Given the description of an element on the screen output the (x, y) to click on. 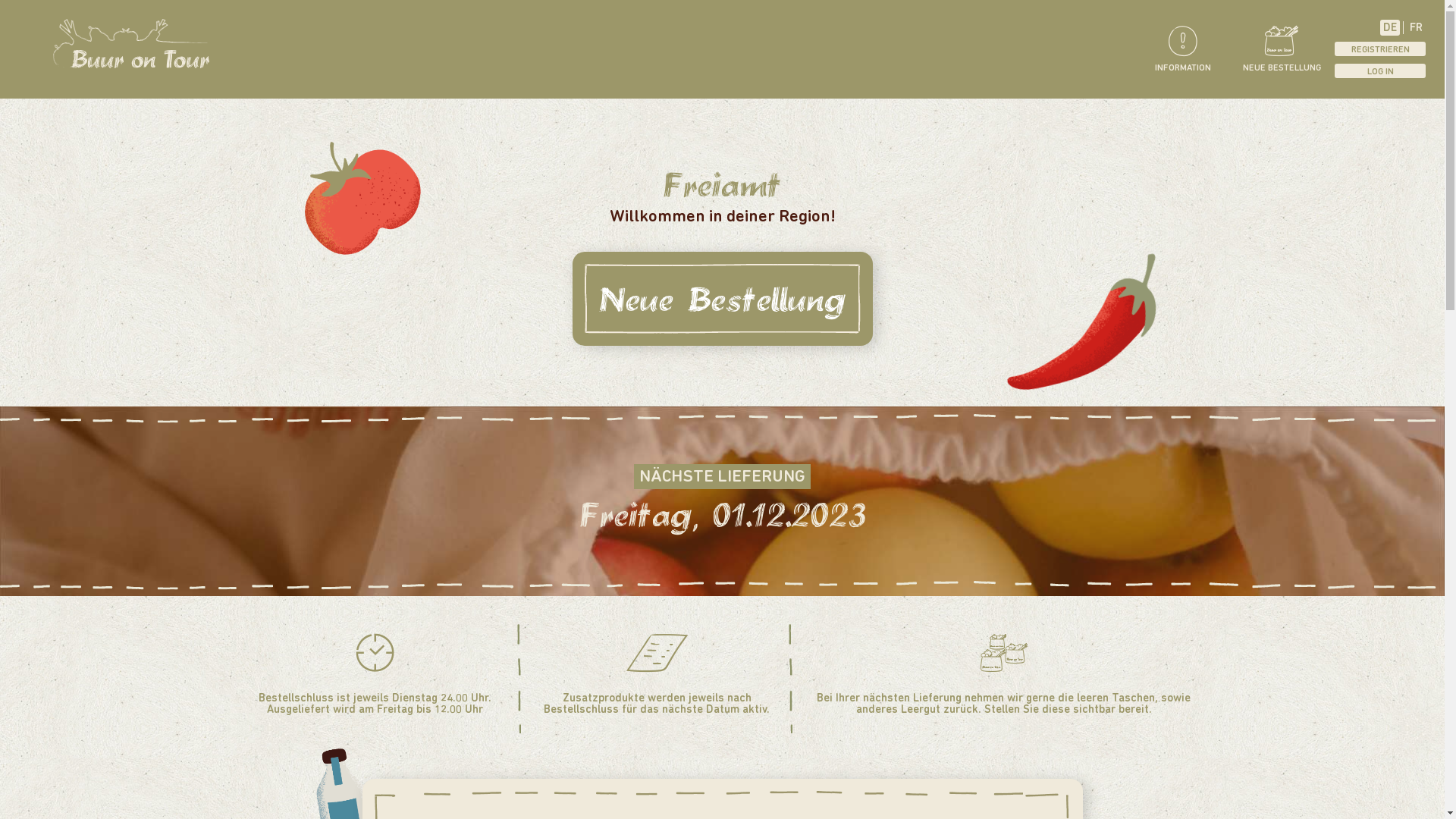
Neue Bestellung Element type: text (722, 298)
DE Element type: text (1389, 27)
LOG IN Element type: text (1379, 70)
NEUE BESTELLUNG Element type: text (1281, 49)
REGISTRIEREN Element type: text (1379, 47)
INFORMATION Element type: text (1182, 49)
FR Element type: text (1415, 27)
